Given the description of an element on the screen output the (x, y) to click on. 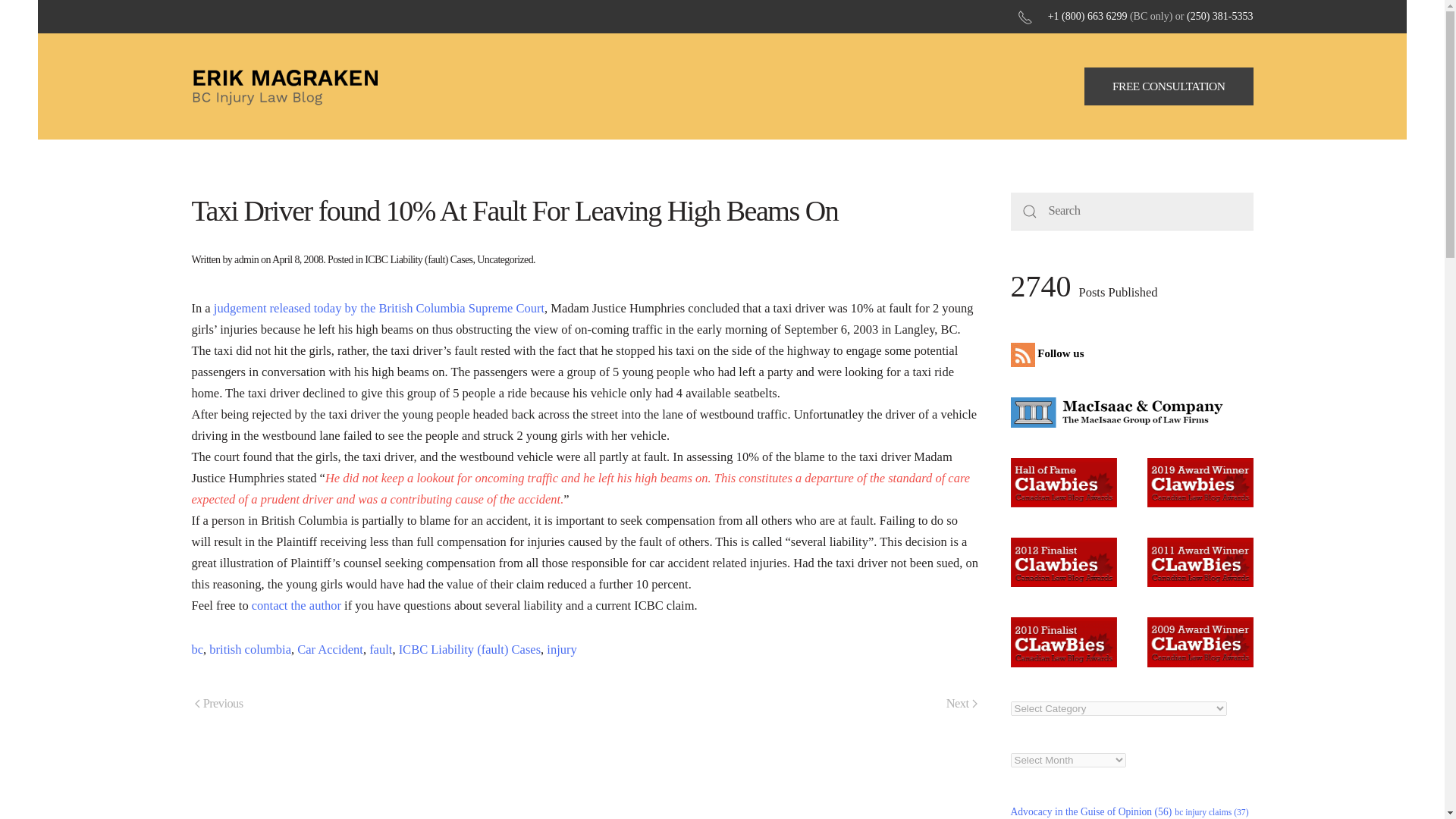
admin (246, 259)
injury (561, 649)
Car Accident (329, 649)
Next (961, 704)
Previous (218, 704)
FREE CONSULTATION (1168, 86)
fault (380, 649)
Uncategorized (504, 259)
contact the author (295, 605)
Follow us (1050, 353)
british columbia (250, 649)
